Given the description of an element on the screen output the (x, y) to click on. 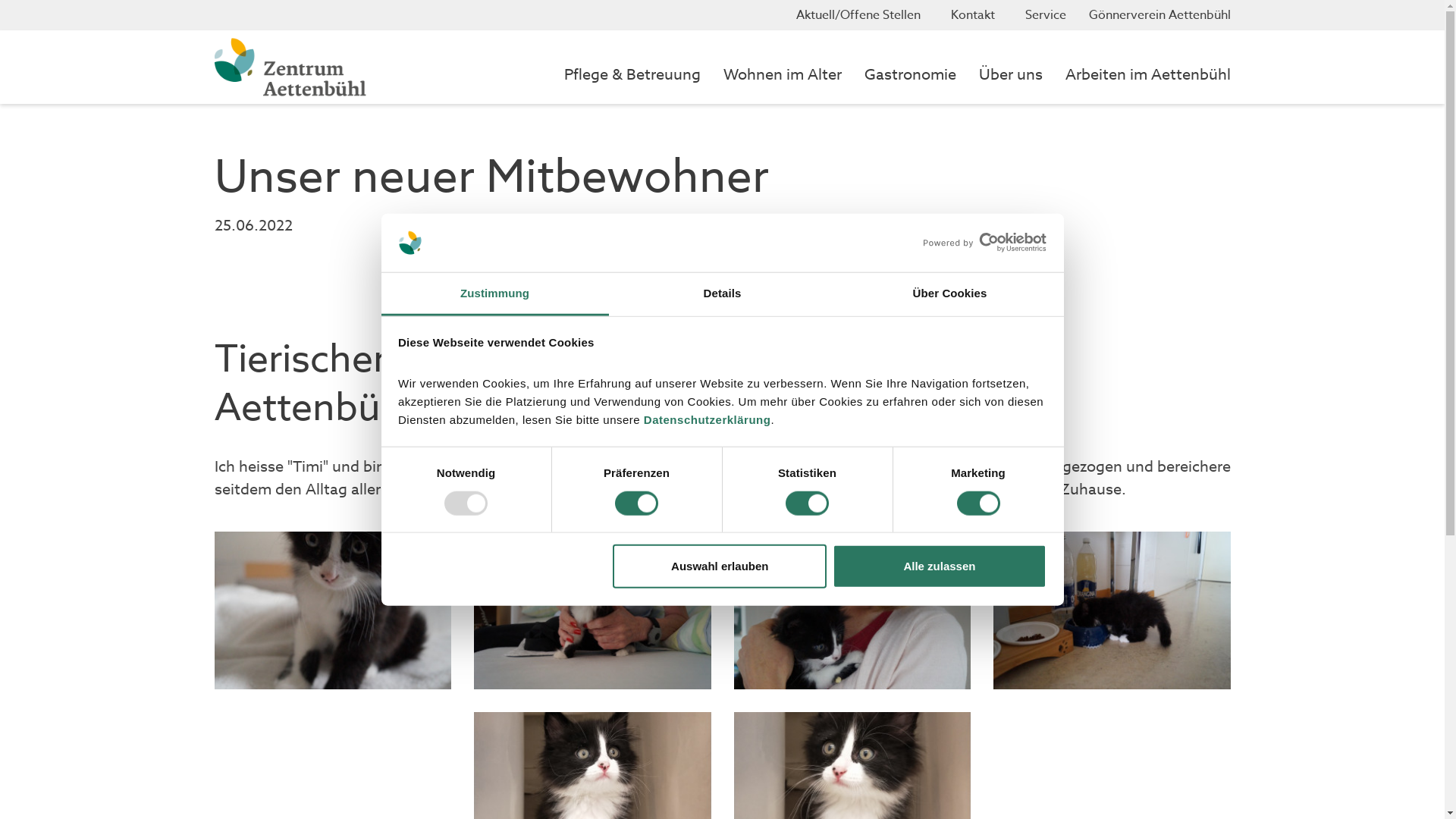
Details Element type: text (721, 294)
Pflege & Betreuung Element type: text (632, 74)
Wohnen im Alter Element type: text (782, 74)
Auswahl erlauben Element type: text (719, 566)
Gastronomie Element type: text (910, 74)
Service Element type: text (1041, 15)
Kontakt Element type: text (972, 15)
Zustimmung Element type: text (494, 294)
Alle zulassen Element type: text (939, 566)
Aktuell/Offene Stellen Element type: text (862, 15)
